Given the description of an element on the screen output the (x, y) to click on. 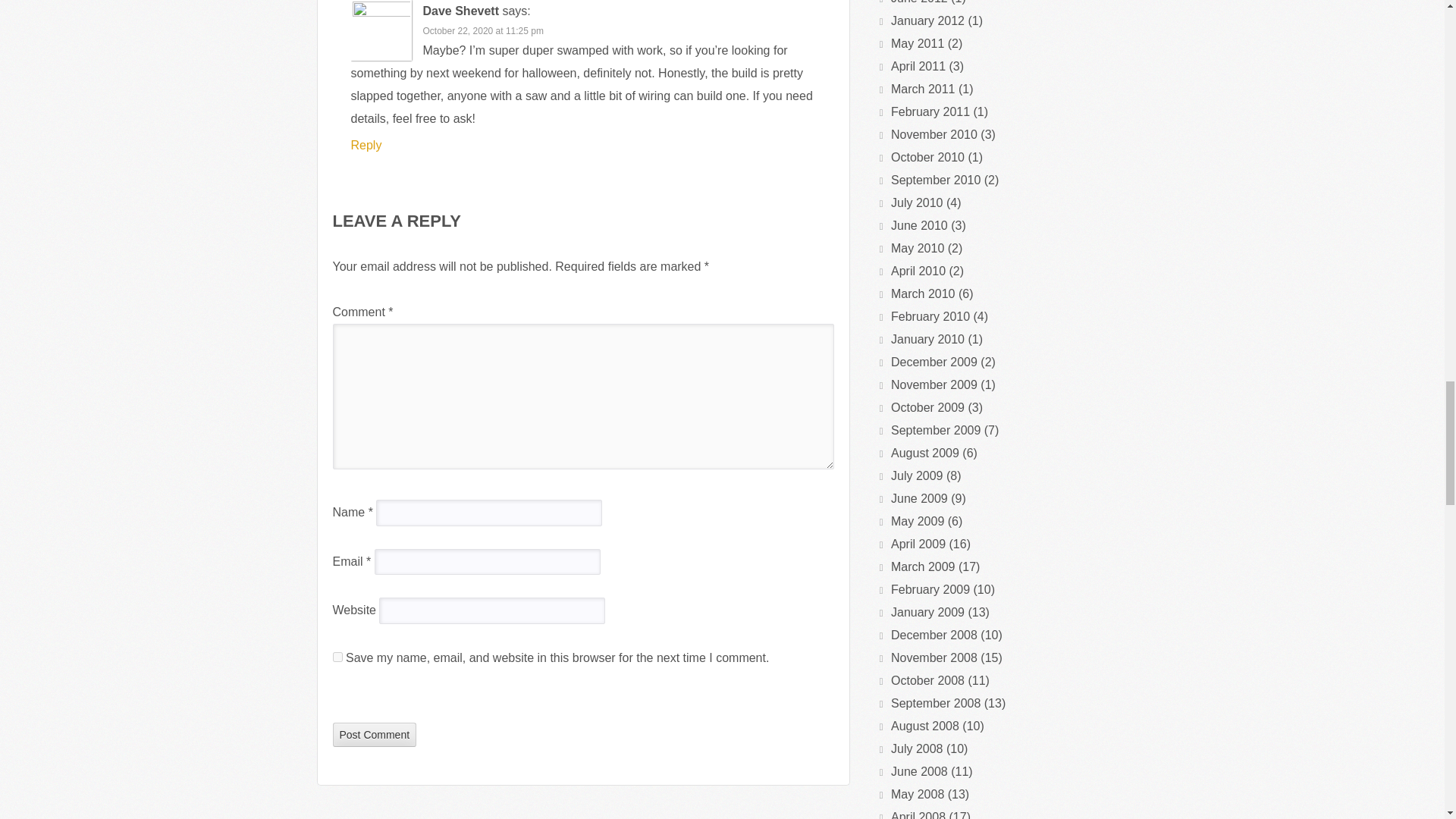
yes (336, 656)
Post Comment (373, 733)
